Given the description of an element on the screen output the (x, y) to click on. 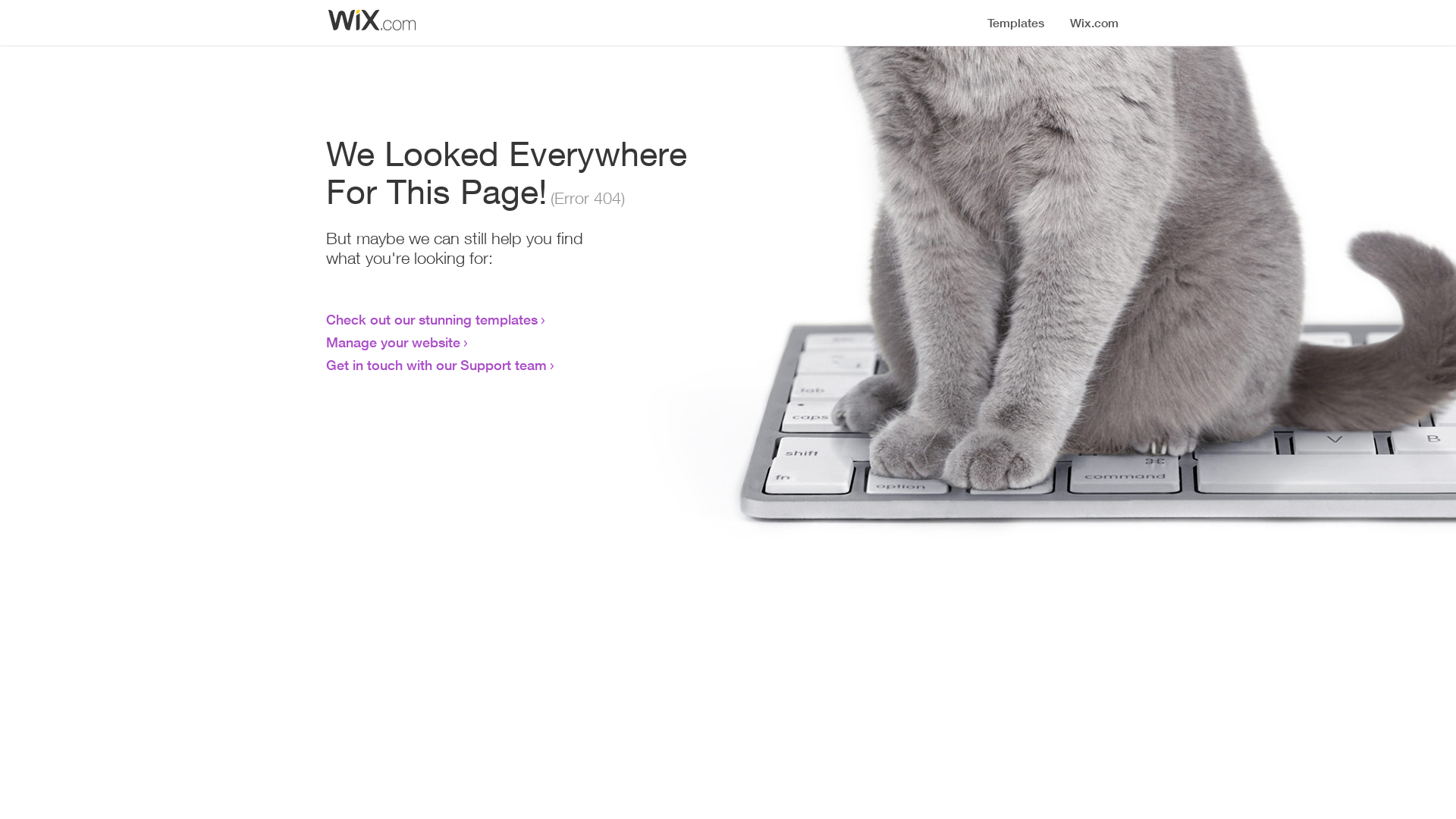
Get in touch with our Support team Element type: text (436, 364)
Check out our stunning templates Element type: text (431, 318)
Manage your website Element type: text (393, 341)
